Given the description of an element on the screen output the (x, y) to click on. 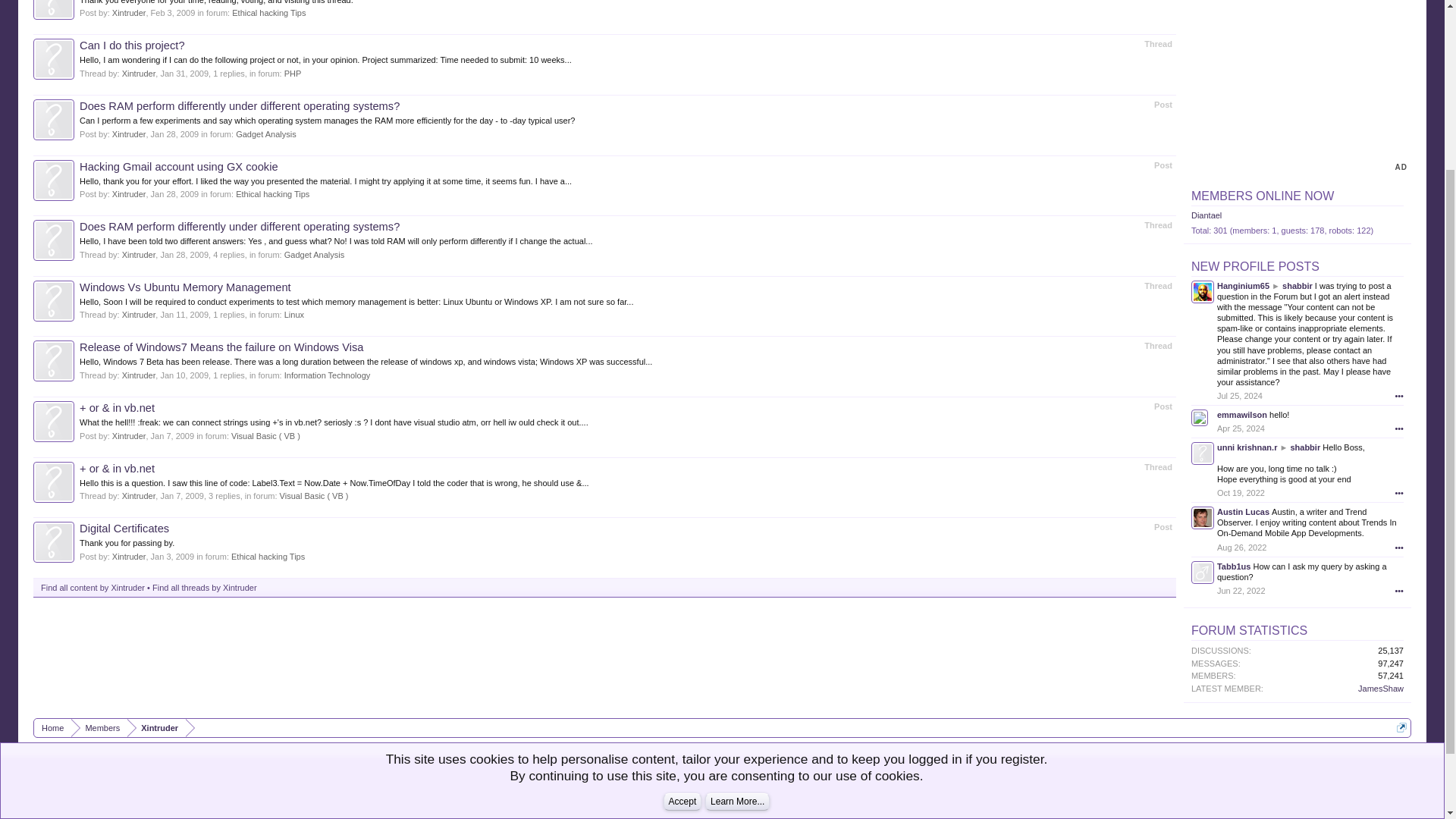
Jan 11, 2009 at 7:46 PM (184, 314)
Apr 25, 2024 at 7:55 AM (1241, 428)
Jan 28, 2009 at 3:22 AM (175, 194)
Oct 19, 2022 at 5:34 AM (1241, 492)
Jan 28, 2009 at 12:08 AM (184, 254)
Feb 3, 2009 at 11:37 PM (173, 12)
Hacking Gmail account using GX cookie (179, 166)
